Given the description of an element on the screen output the (x, y) to click on. 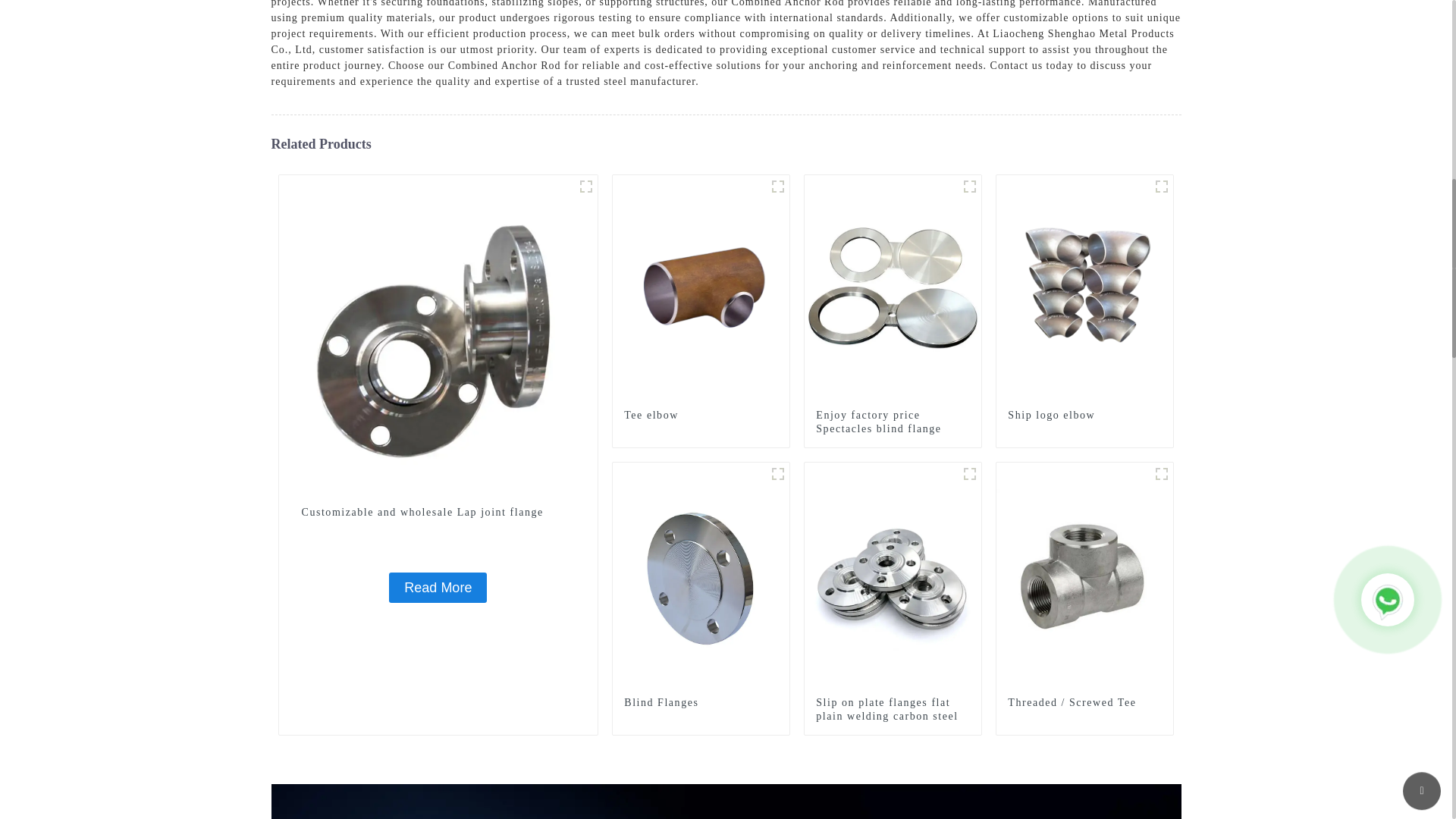
Blind Flanges (700, 703)
Lap joint flange1 (585, 186)
6-removebg-preview (1161, 186)
Slip on plate flanges flat plain welding carbon steel flange (892, 716)
Ship logo elbow (1084, 288)
Customizable and wholesale Lap joint flange (438, 512)
Spectacles blind flange1 (969, 186)
Tee elbow (700, 415)
Tee elbow (700, 415)
Enjoy factory price Spectacles blind flange (892, 421)
